Given the description of an element on the screen output the (x, y) to click on. 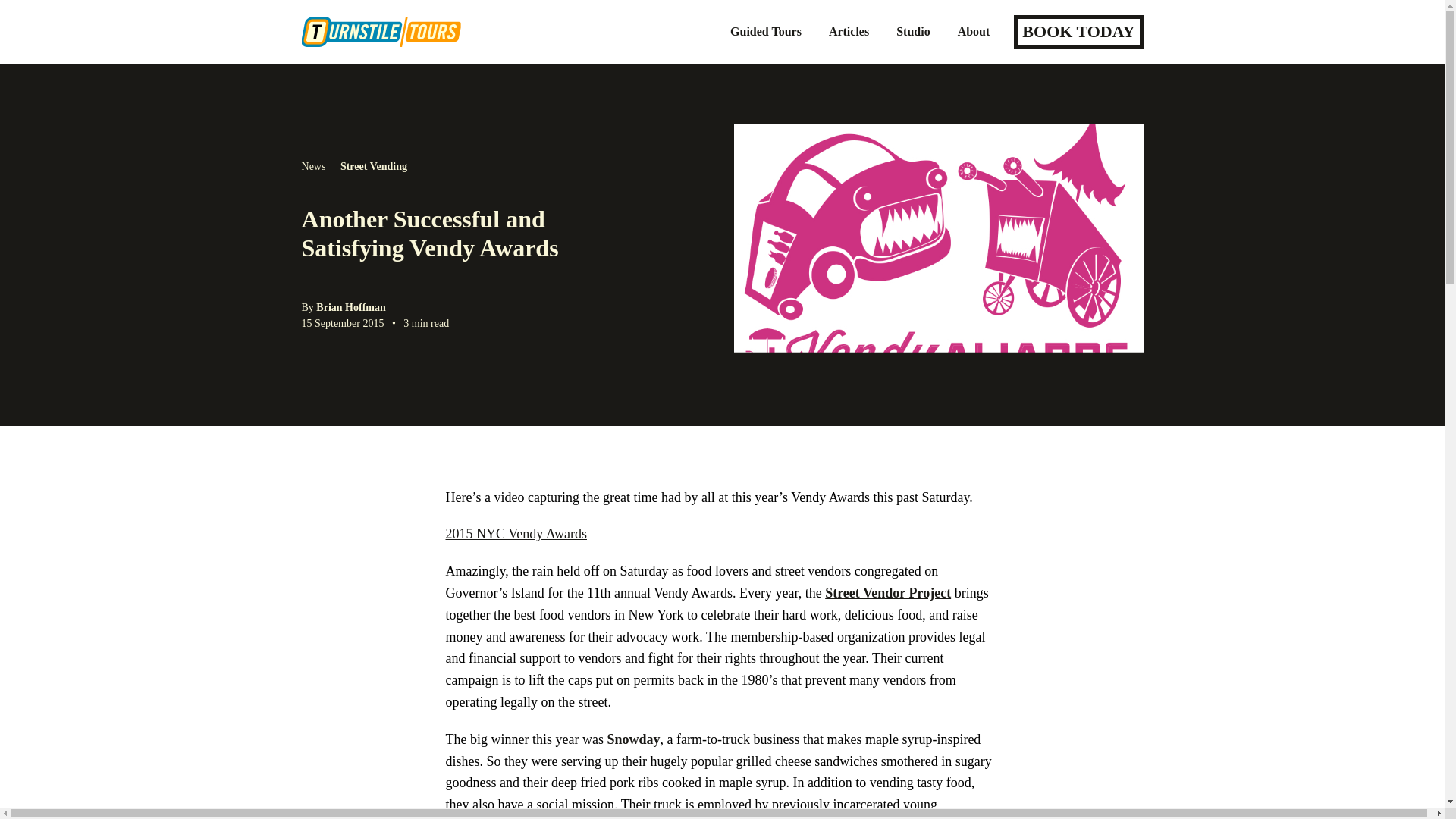
Studio (913, 31)
Guided Tours (766, 31)
Brian Hoffman (350, 307)
Snowday (633, 739)
Street Vending (373, 165)
About (974, 31)
Articles (848, 31)
2015 NYC Vendy Awards (516, 533)
BOOK TODAY (1077, 31)
Street Vendor Project (887, 592)
